Given the description of an element on the screen output the (x, y) to click on. 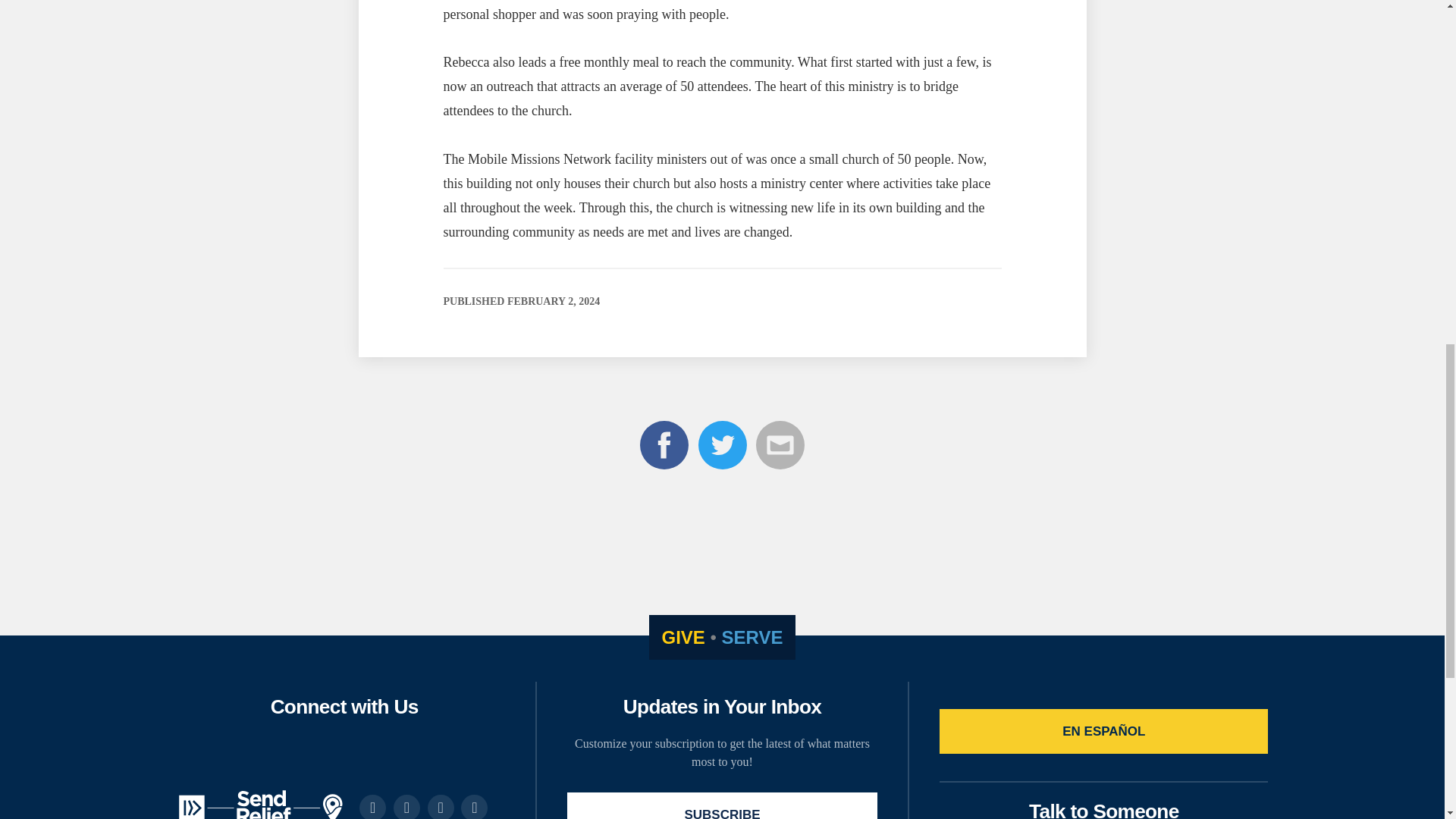
Share on Twitter (723, 468)
Share on Facebook (666, 468)
Share via Email (780, 468)
